Given the description of an element on the screen output the (x, y) to click on. 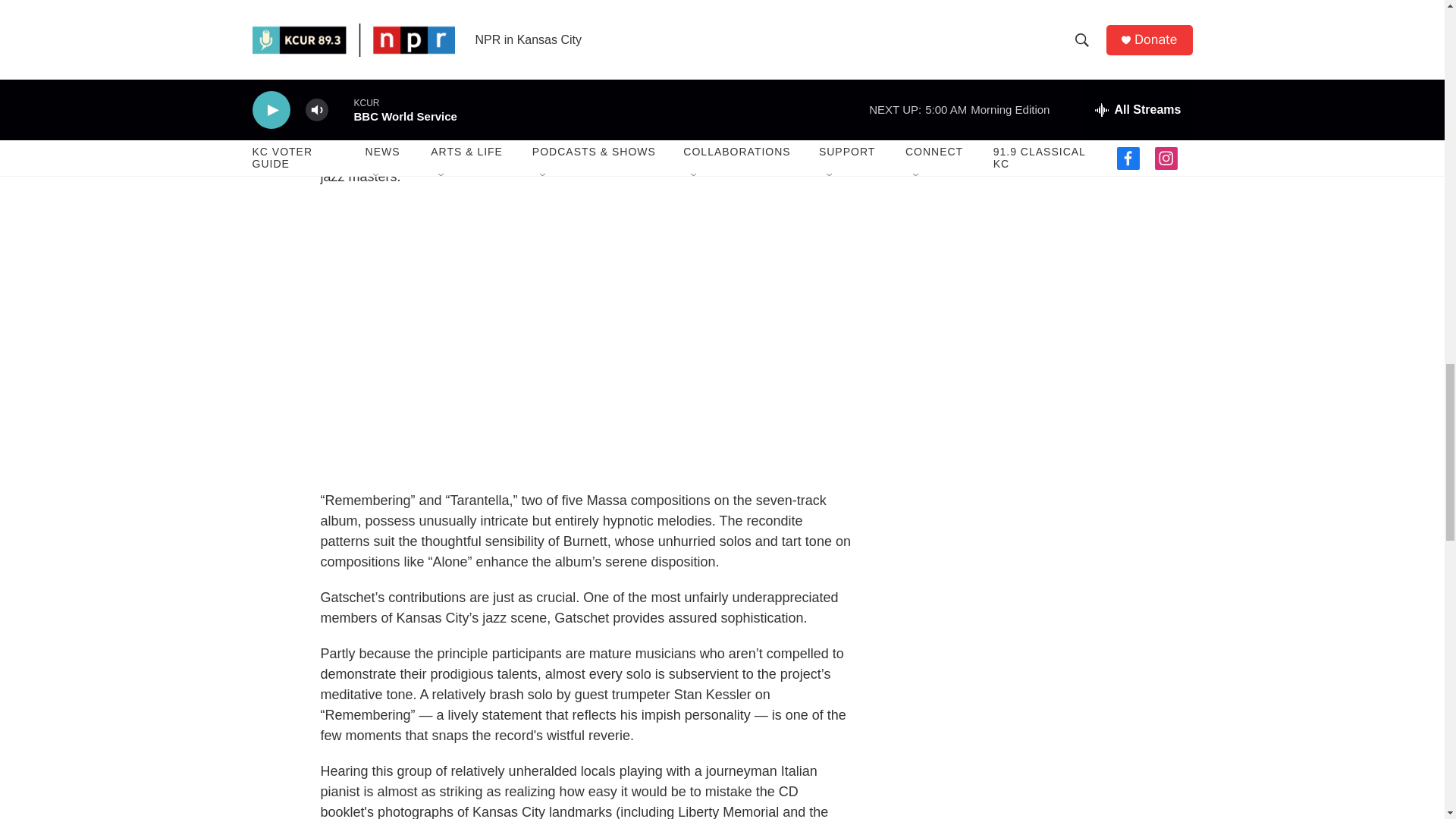
3rd party ad content (1062, 174)
